Given the description of an element on the screen output the (x, y) to click on. 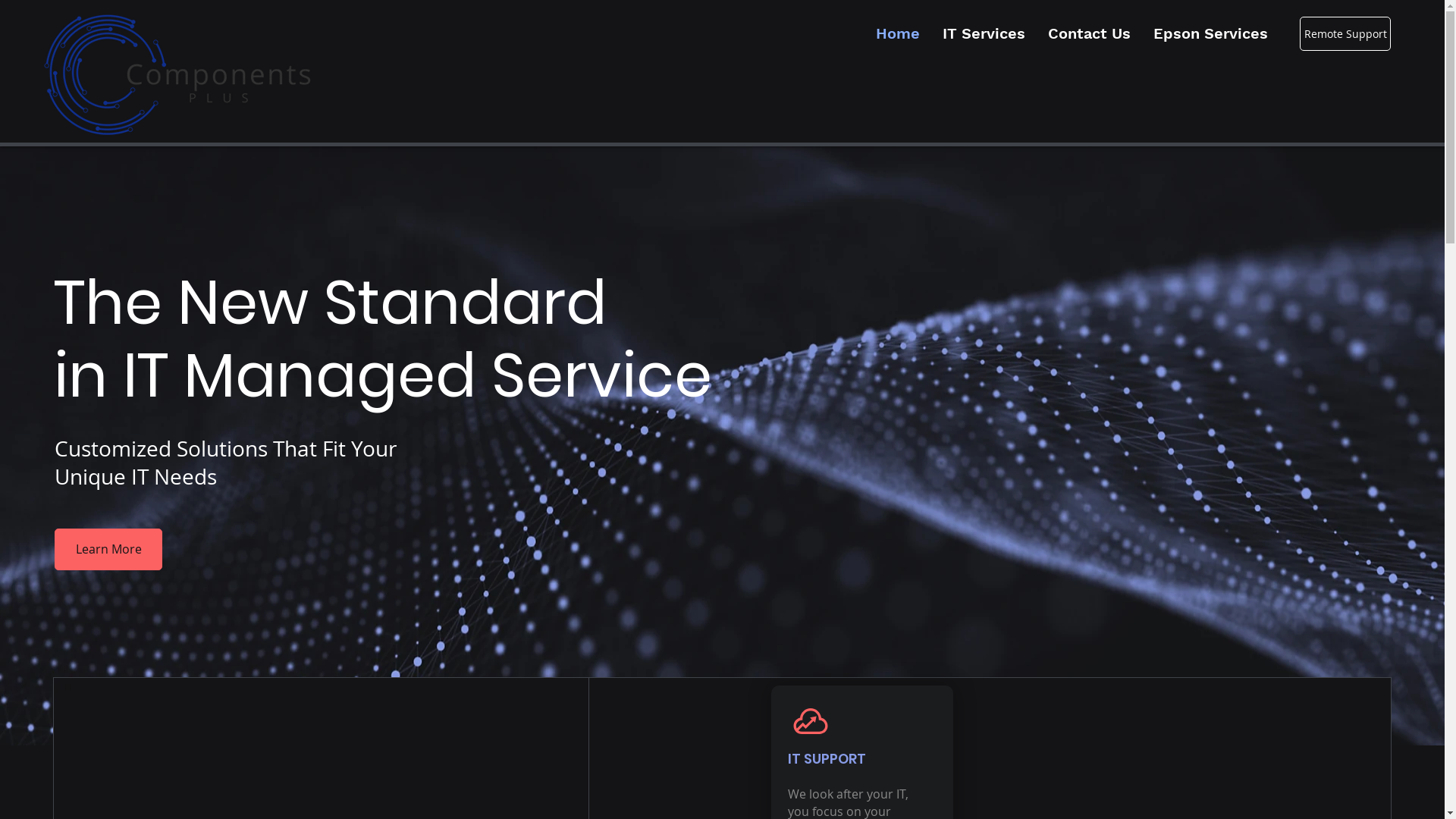
Epson Services Element type: text (1210, 33)
Remote Support Element type: text (1344, 33)
Home Element type: text (897, 33)
Learn More Element type: text (108, 549)
Contact Us Element type: text (1089, 33)
IT Services Element type: text (983, 33)
